Given the description of an element on the screen output the (x, y) to click on. 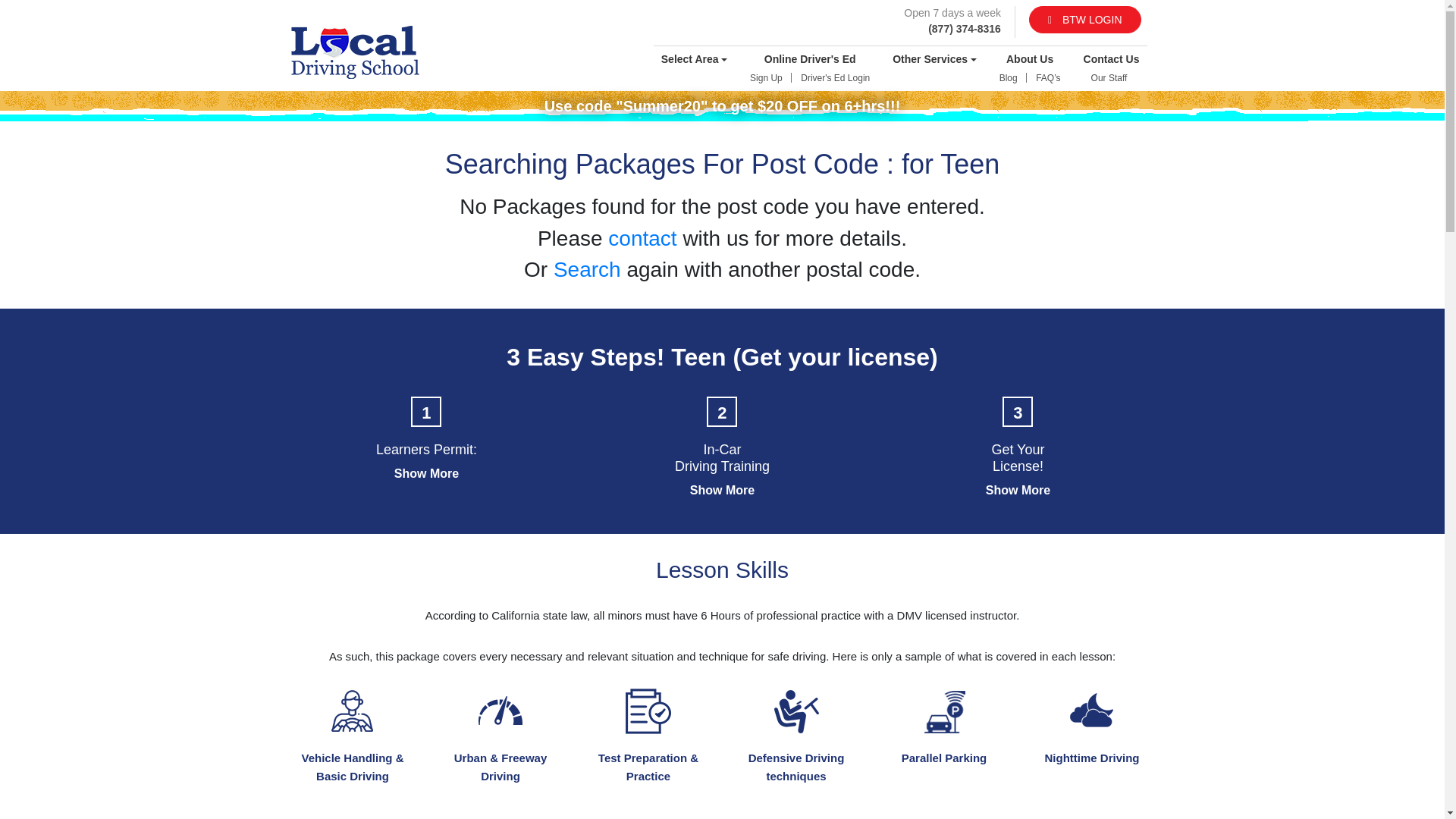
contact (642, 238)
Other Services (933, 59)
Blog (1008, 77)
Select Area (693, 59)
Show More (722, 490)
Contact Us (1111, 59)
Show More (426, 472)
Our Staff (1109, 77)
Driver's Ed Login (835, 77)
Show More (1017, 490)
